Given the description of an element on the screen output the (x, y) to click on. 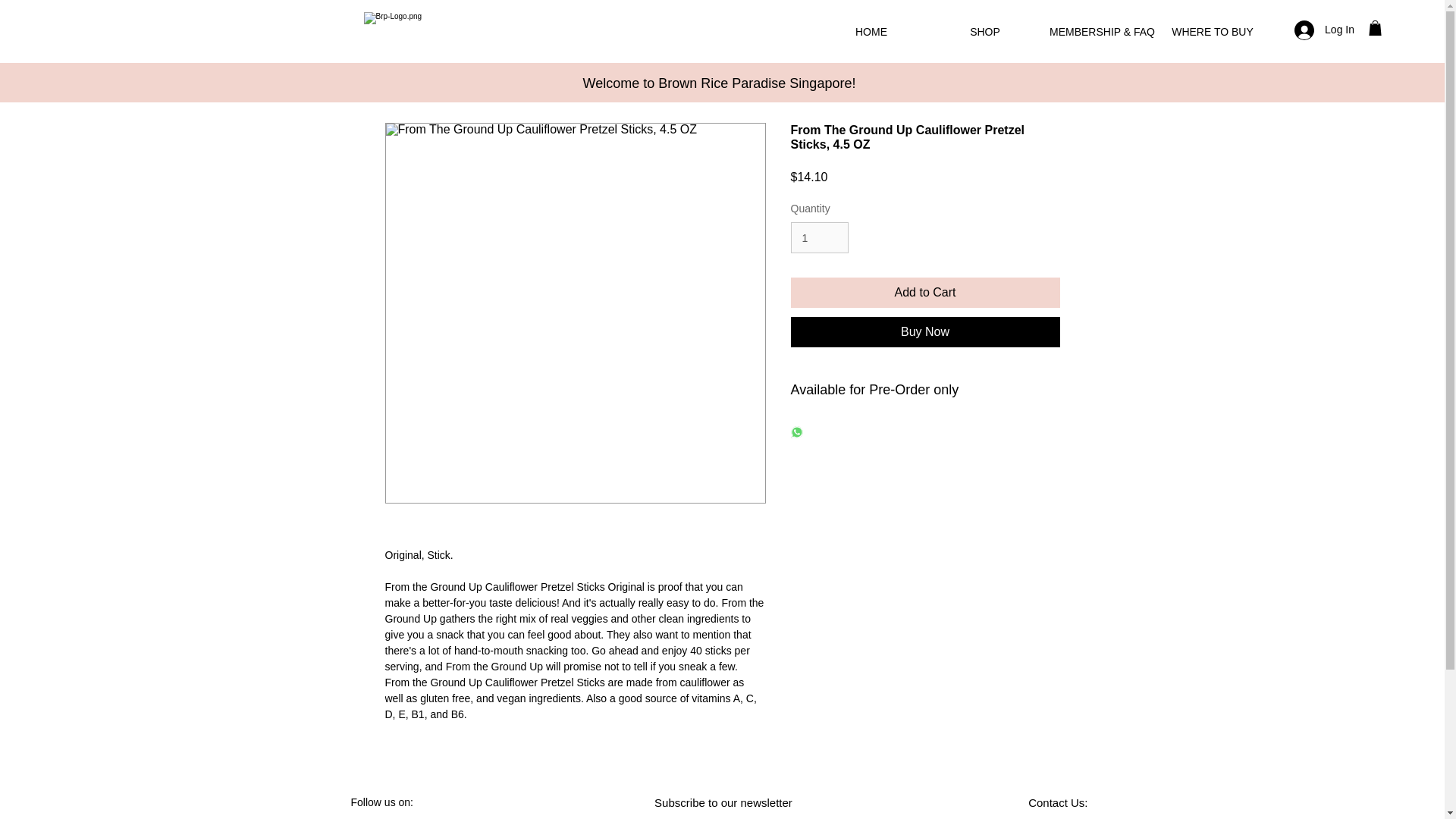
HOME (870, 31)
1 (818, 237)
SHOP (985, 31)
WHERE TO BUY (1212, 31)
Log In (1324, 30)
Buy Now (924, 331)
Add to Cart (924, 292)
